Given the description of an element on the screen output the (x, y) to click on. 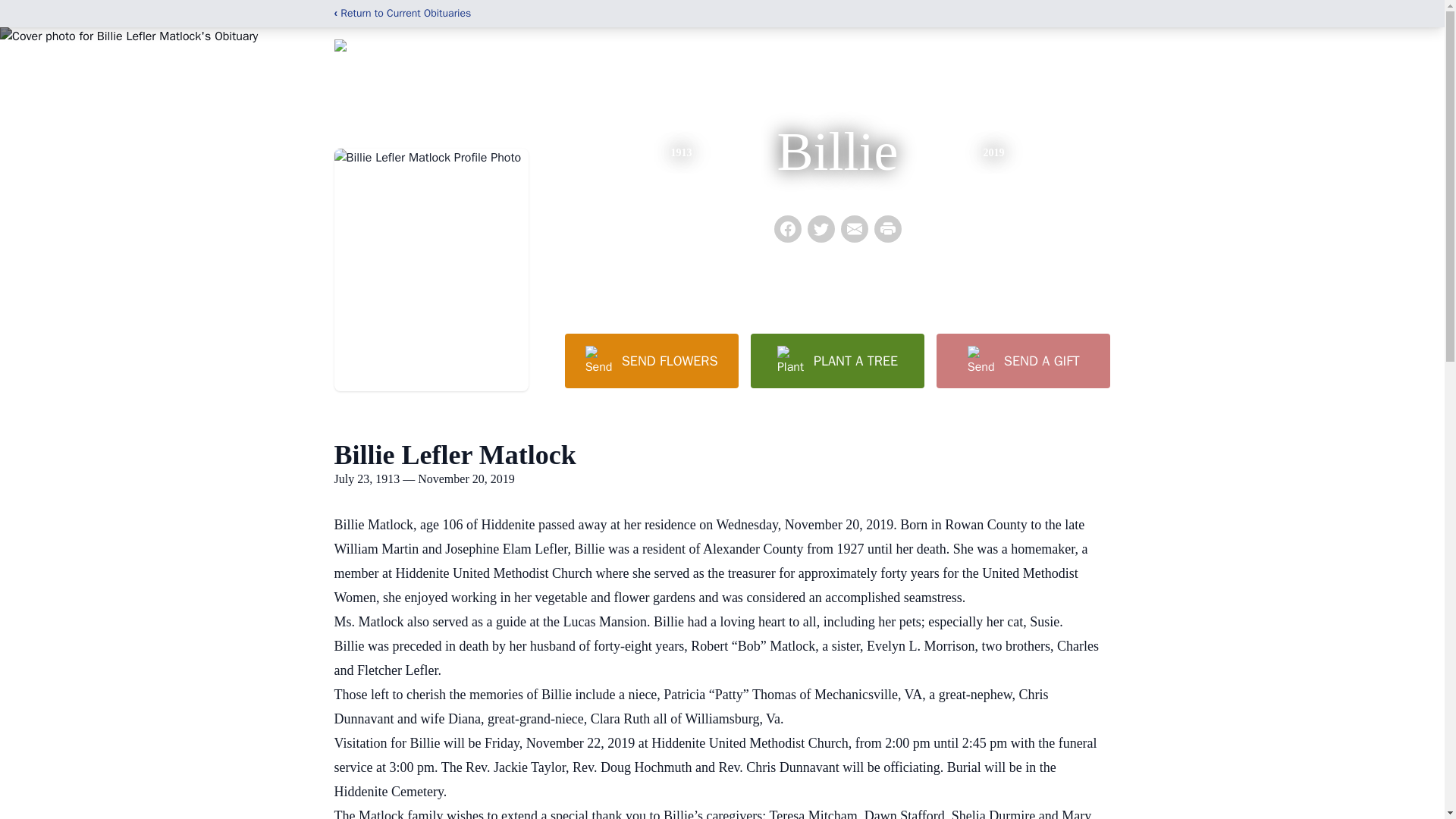
SEND FLOWERS (651, 360)
SEND A GIFT (1022, 360)
PLANT A TREE (837, 360)
